Given the description of an element on the screen output the (x, y) to click on. 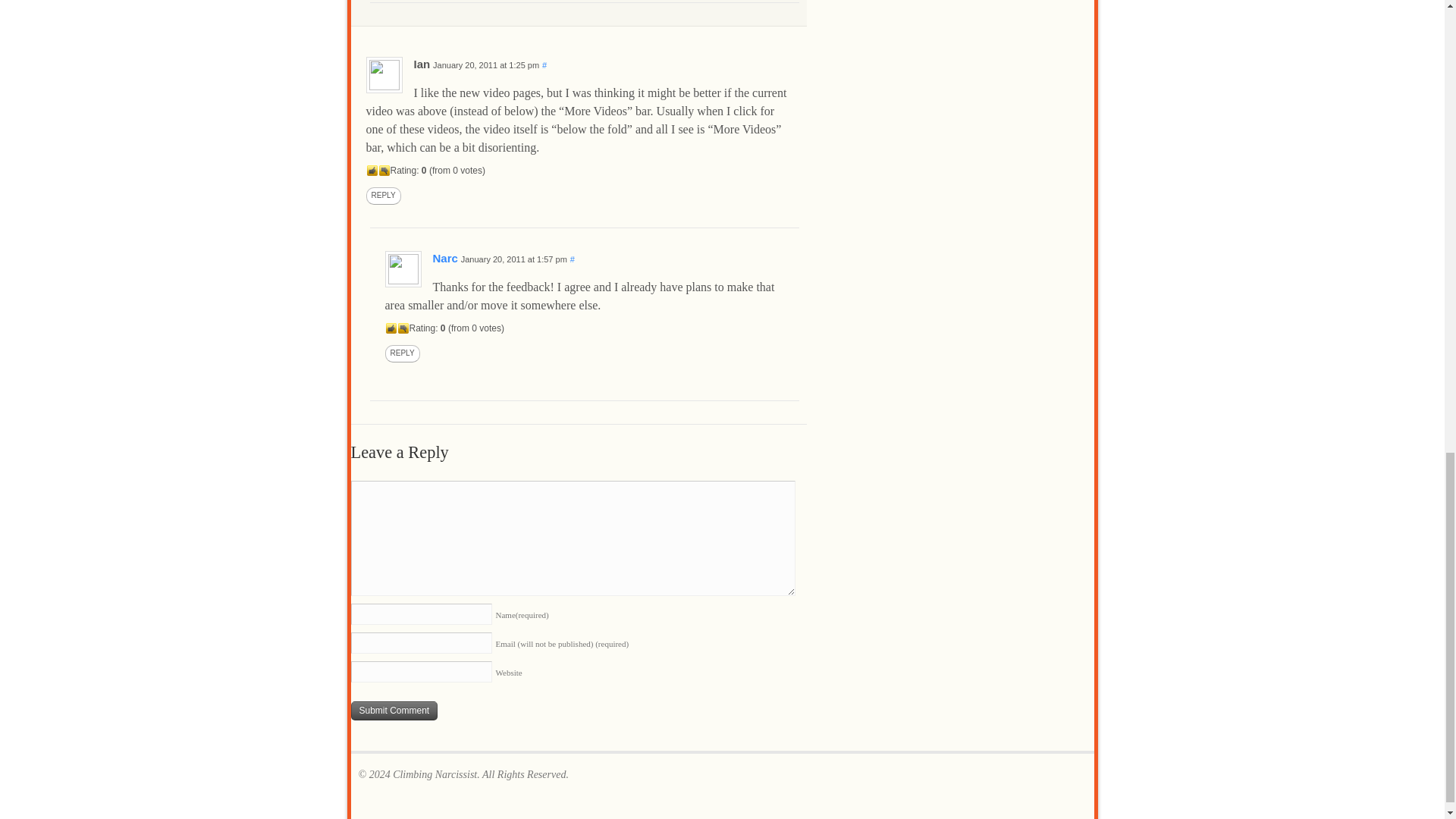
Submit Comment (394, 710)
